Given the description of an element on the screen output the (x, y) to click on. 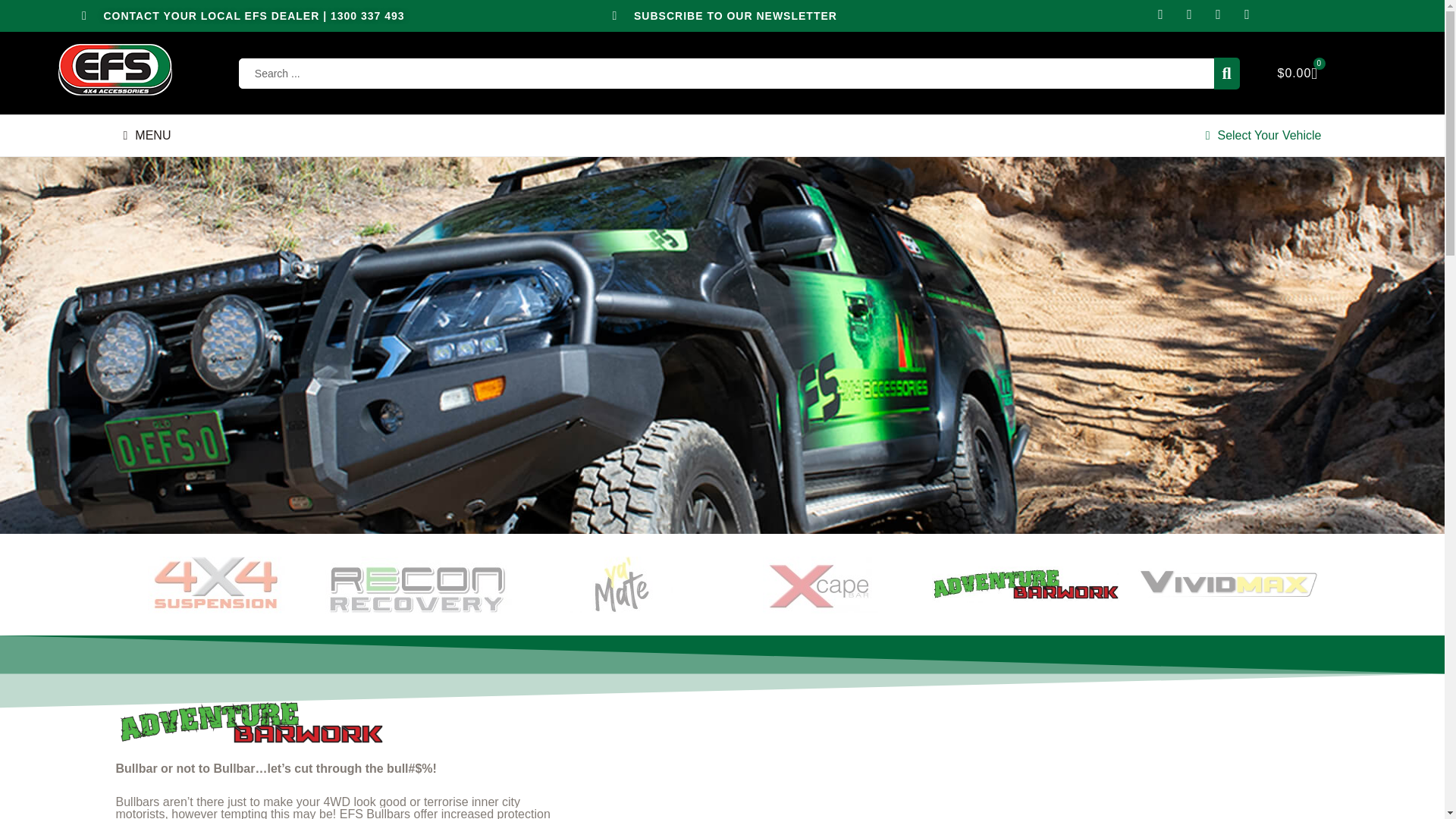
xcapebar (822, 584)
Instagram (1160, 14)
recon-recovery (418, 584)
vividmax (1228, 584)
Tiktok (1246, 14)
SUBSCRIBE TO OUR NEWSLETTER (722, 15)
yamate (621, 584)
Facebook-f (1188, 14)
adventure barwork (1025, 584)
Youtube (1217, 14)
